Given the description of an element on the screen output the (x, y) to click on. 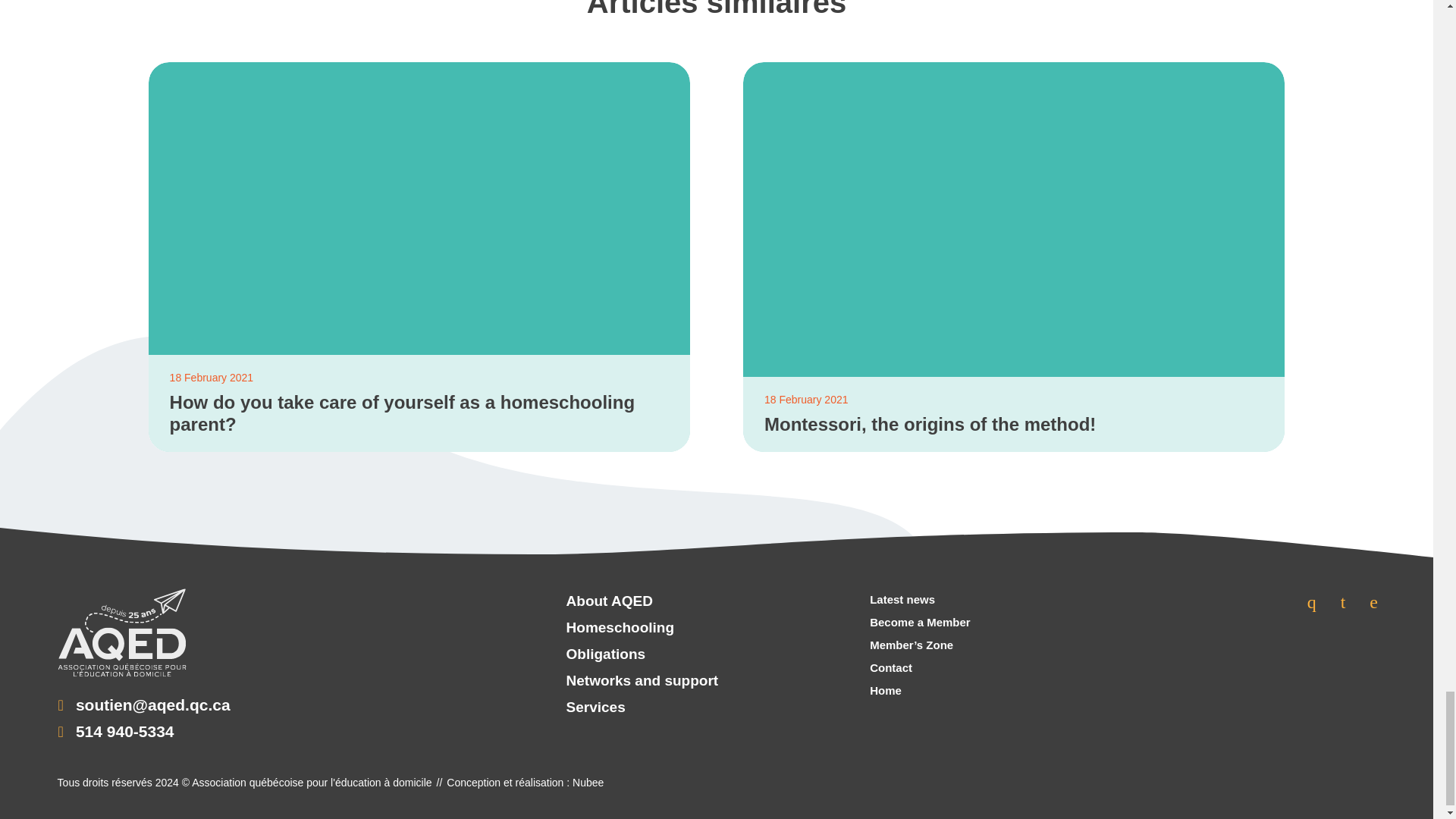
Services (642, 707)
Latest news (919, 599)
Become a Member (919, 621)
Obligations (642, 654)
Instagram (1342, 601)
514 940-5334 (124, 731)
How do you take care of yourself as a homeschooling parent? (419, 413)
Montessori, the origins of the method! (1013, 424)
About AQED (642, 601)
Networks and support (642, 681)
Homeschooling (642, 628)
